Given the description of an element on the screen output the (x, y) to click on. 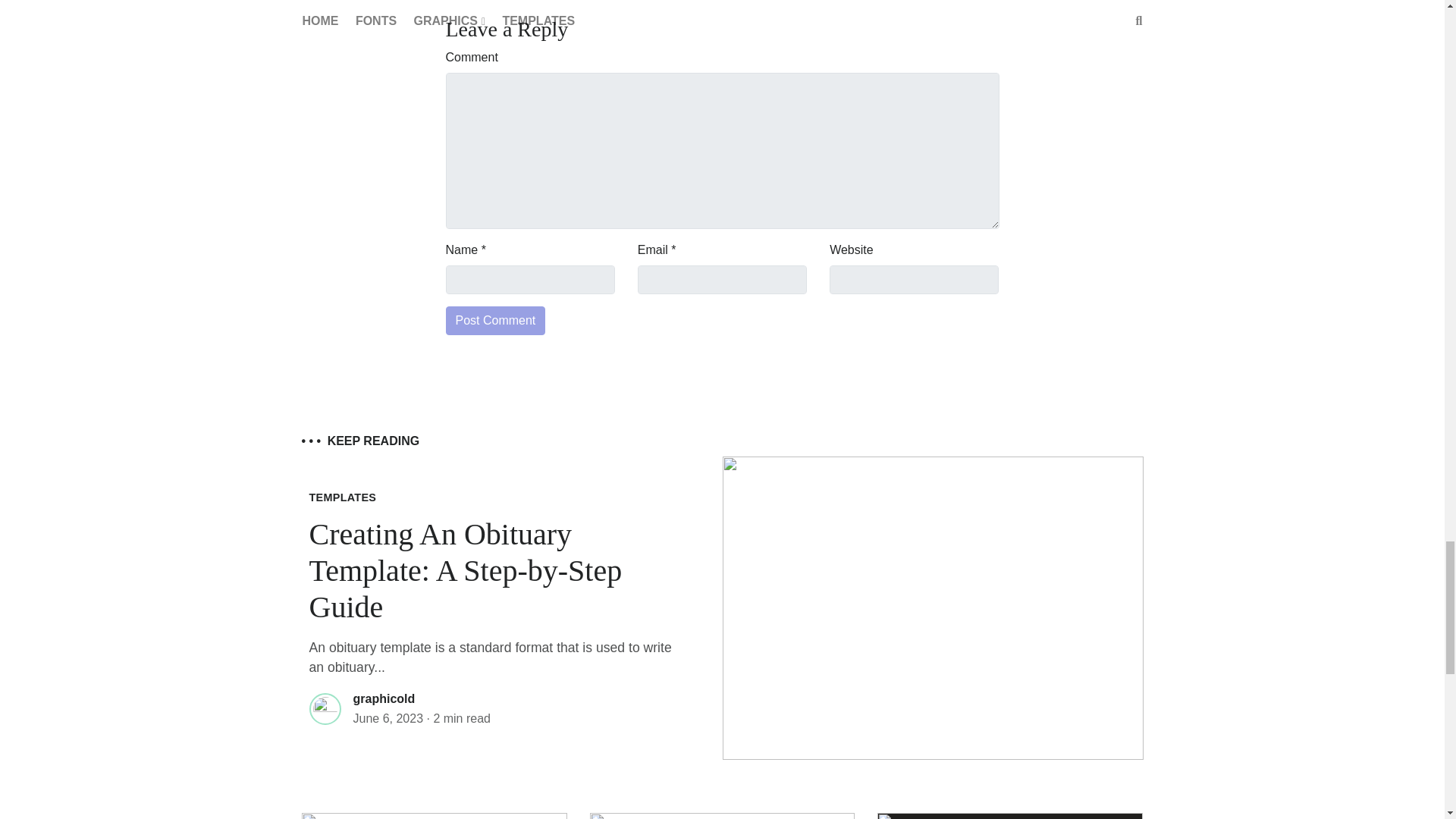
Post Comment (495, 320)
Creating An Obituary Template: A Step-by-Step Guide (465, 570)
Post Comment (495, 320)
TEMPLATES (342, 497)
Posts by graphicold (383, 698)
